Given the description of an element on the screen output the (x, y) to click on. 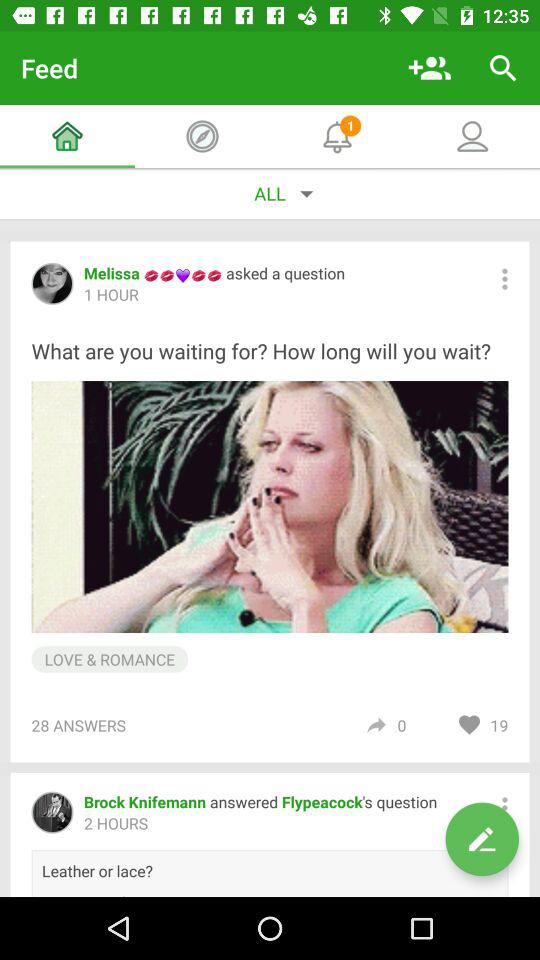
options (504, 278)
